Given the description of an element on the screen output the (x, y) to click on. 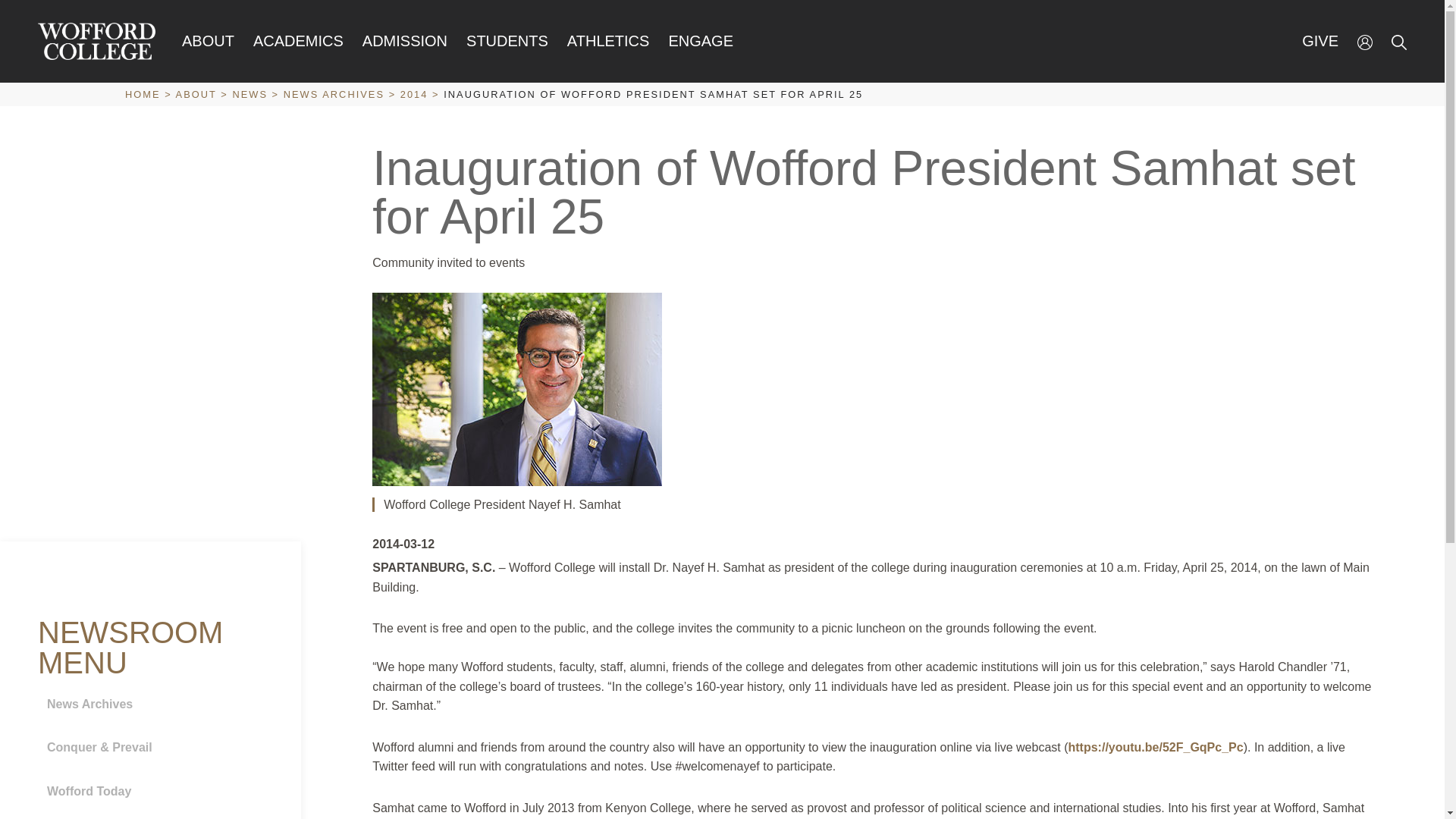
News Archives (154, 704)
Give (1319, 41)
inauguration (1155, 747)
Media Center (154, 817)
ABOUT (207, 41)
Wofford Today (154, 791)
